Given the description of an element on the screen output the (x, y) to click on. 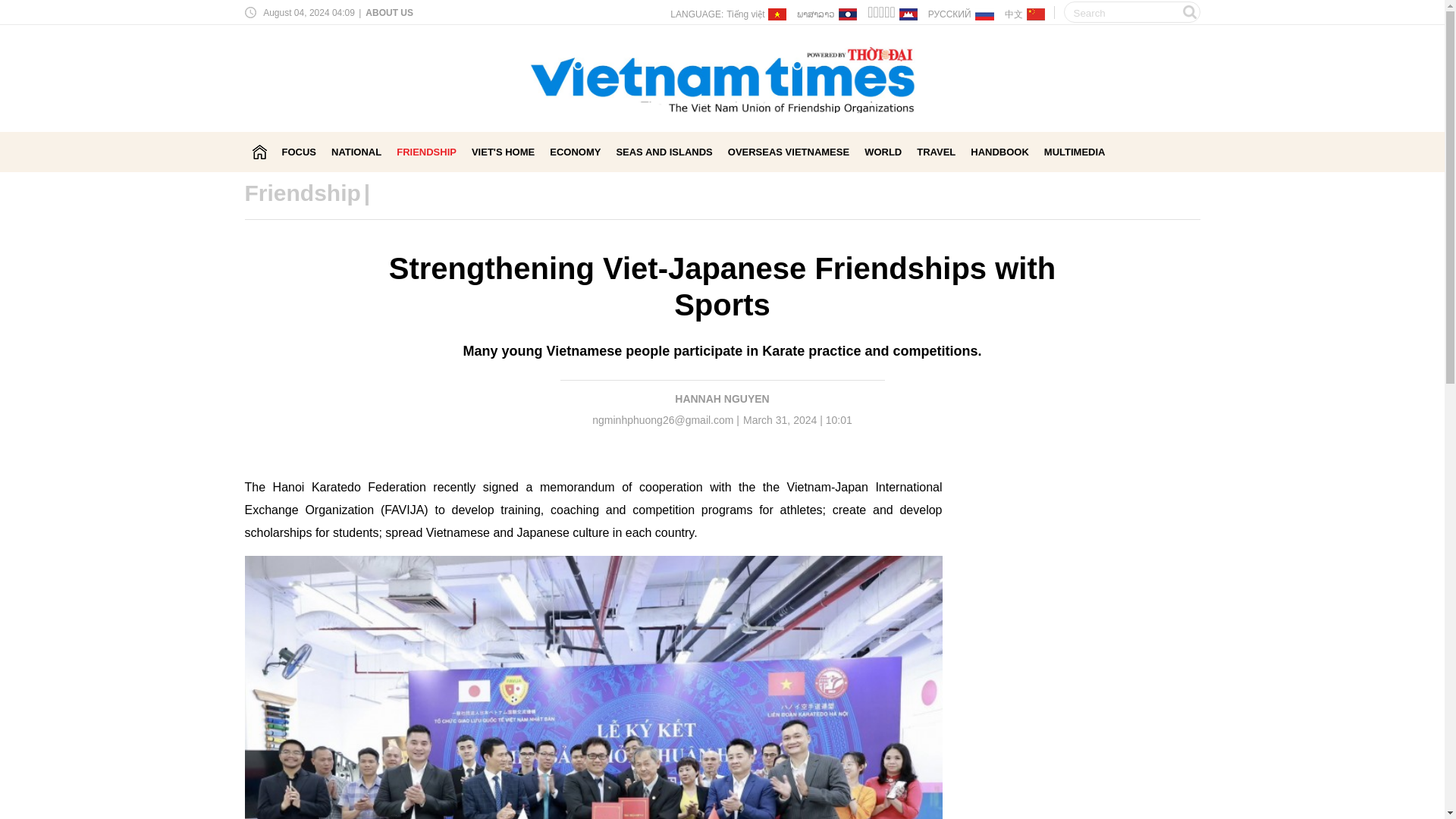
FOCUS (299, 152)
MULTIMEDIA (1074, 152)
Friendship (301, 192)
OVERSEAS VIETNAMESE (788, 152)
WORLD (882, 152)
HANDBOOK (1000, 152)
Friendship (301, 192)
ABOUT US (388, 12)
NATIONAL (356, 152)
ECONOMY (574, 152)
